Given the description of an element on the screen output the (x, y) to click on. 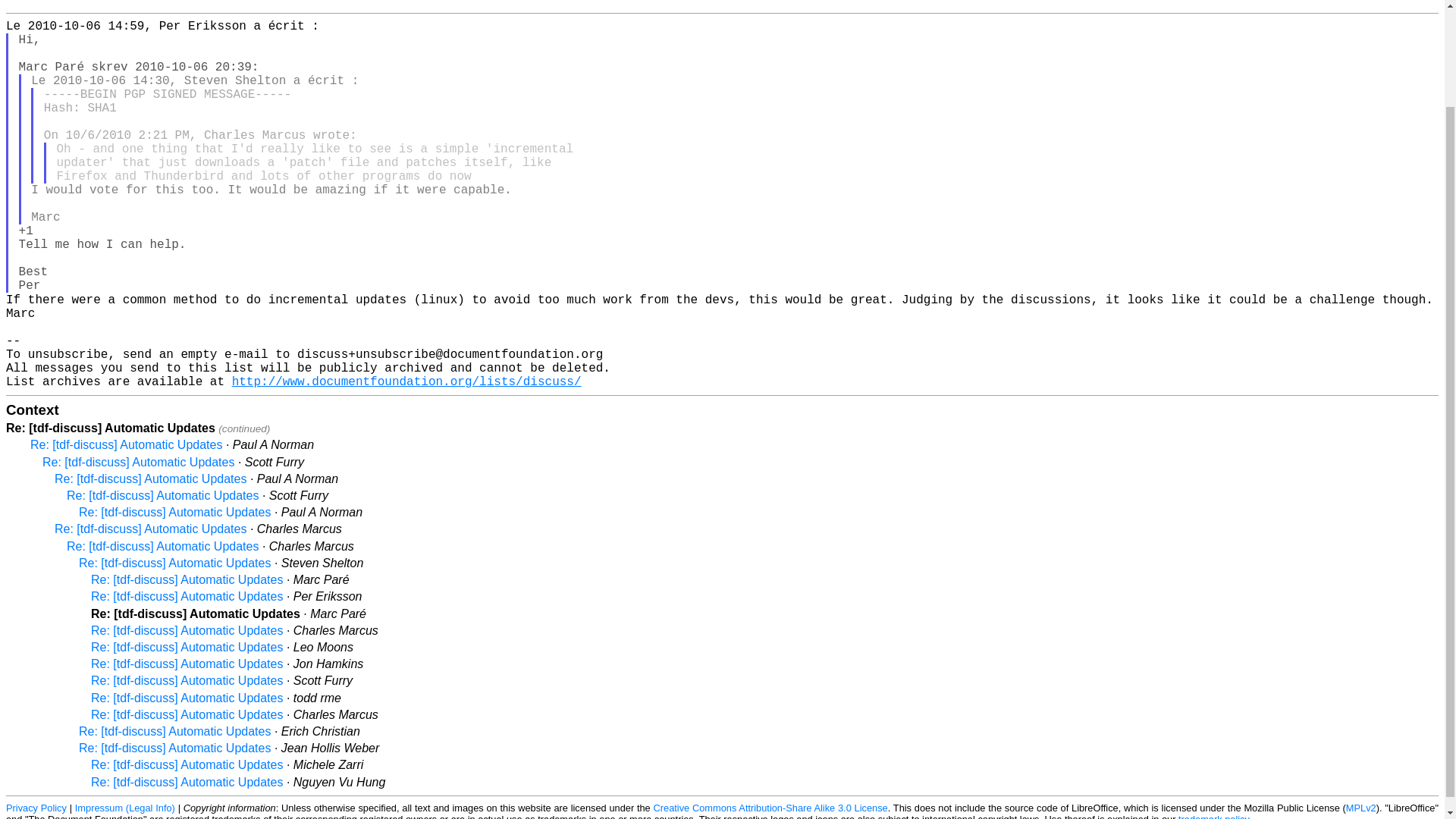
Privacy Policy (35, 808)
MPLv2 (1360, 808)
Creative Commons Attribution-Share Alike 3.0 License (770, 808)
